Given the description of an element on the screen output the (x, y) to click on. 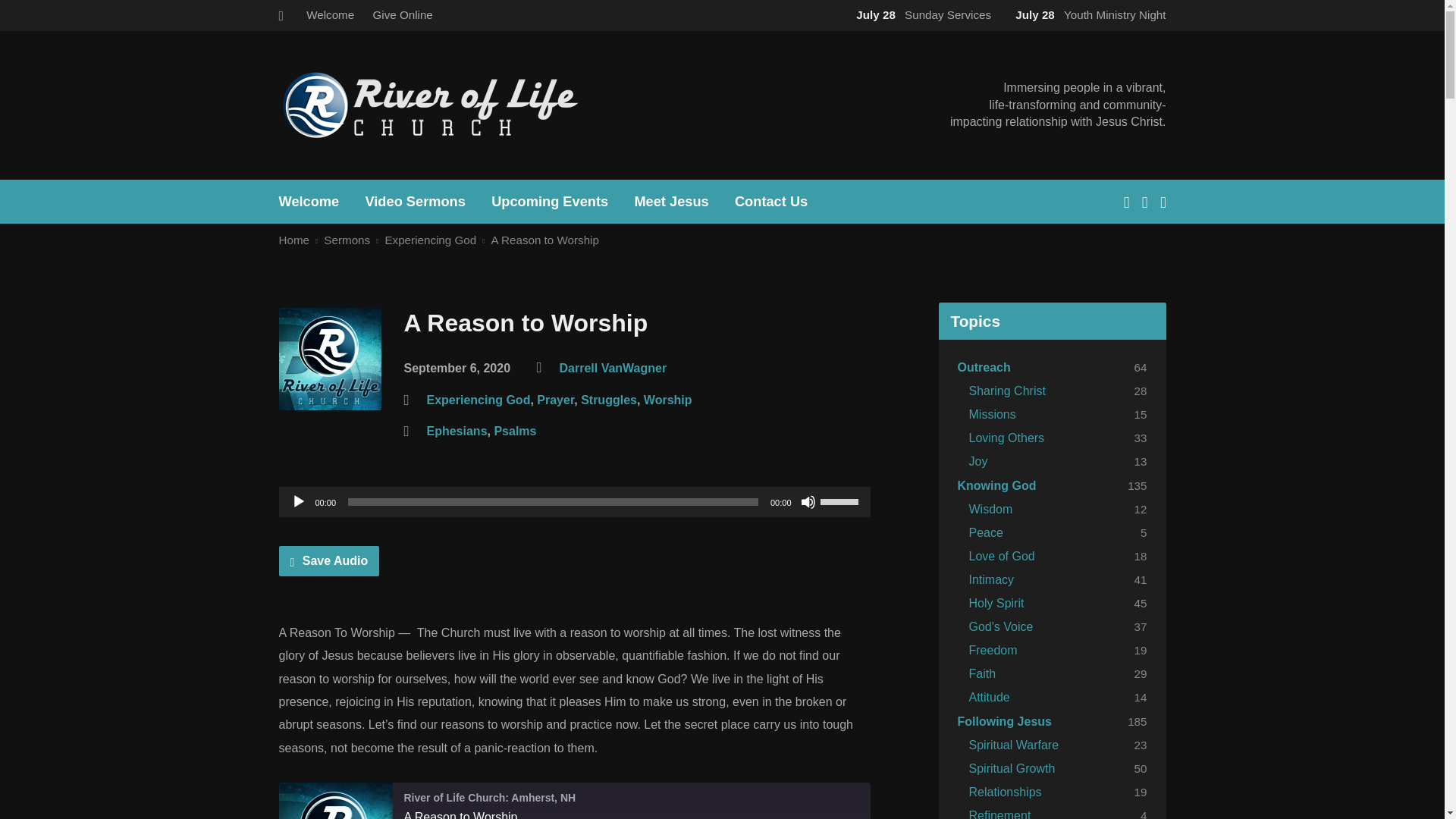
July 28 Sunday Services (920, 14)
Struggles (608, 399)
Welcome (309, 201)
Mute (807, 501)
Experiencing God (477, 399)
Experiencing God (430, 239)
Welcome (329, 14)
Give Online (402, 14)
Youth Ministry Night (1087, 14)
Worship (668, 399)
July 28 Youth Ministry Night (1087, 14)
Sermons (346, 239)
Home (294, 239)
Video Sermons (414, 201)
Darrell VanWagner (612, 367)
